Given the description of an element on the screen output the (x, y) to click on. 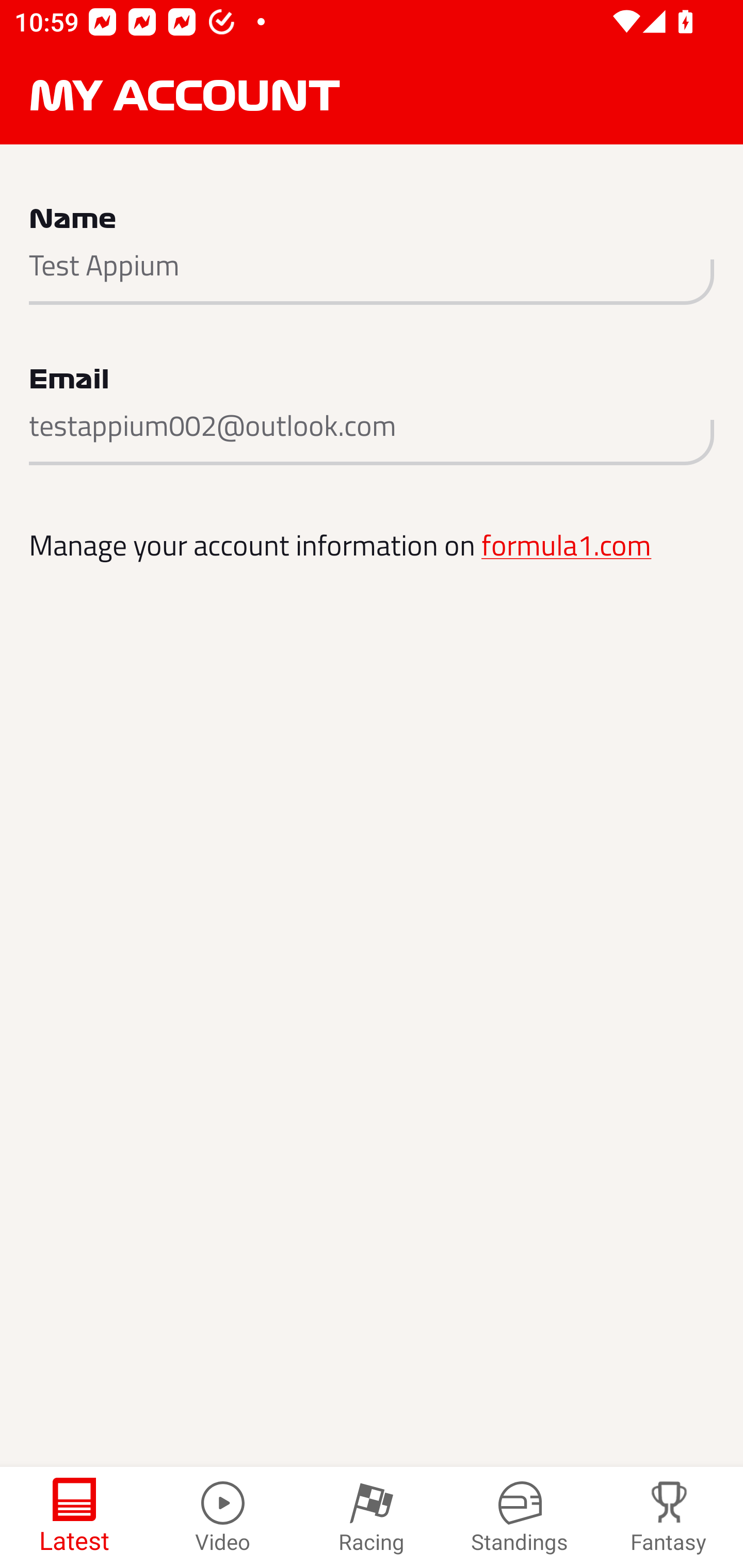
Video (222, 1517)
Racing (371, 1517)
Standings (519, 1517)
Fantasy (668, 1517)
